Given the description of an element on the screen output the (x, y) to click on. 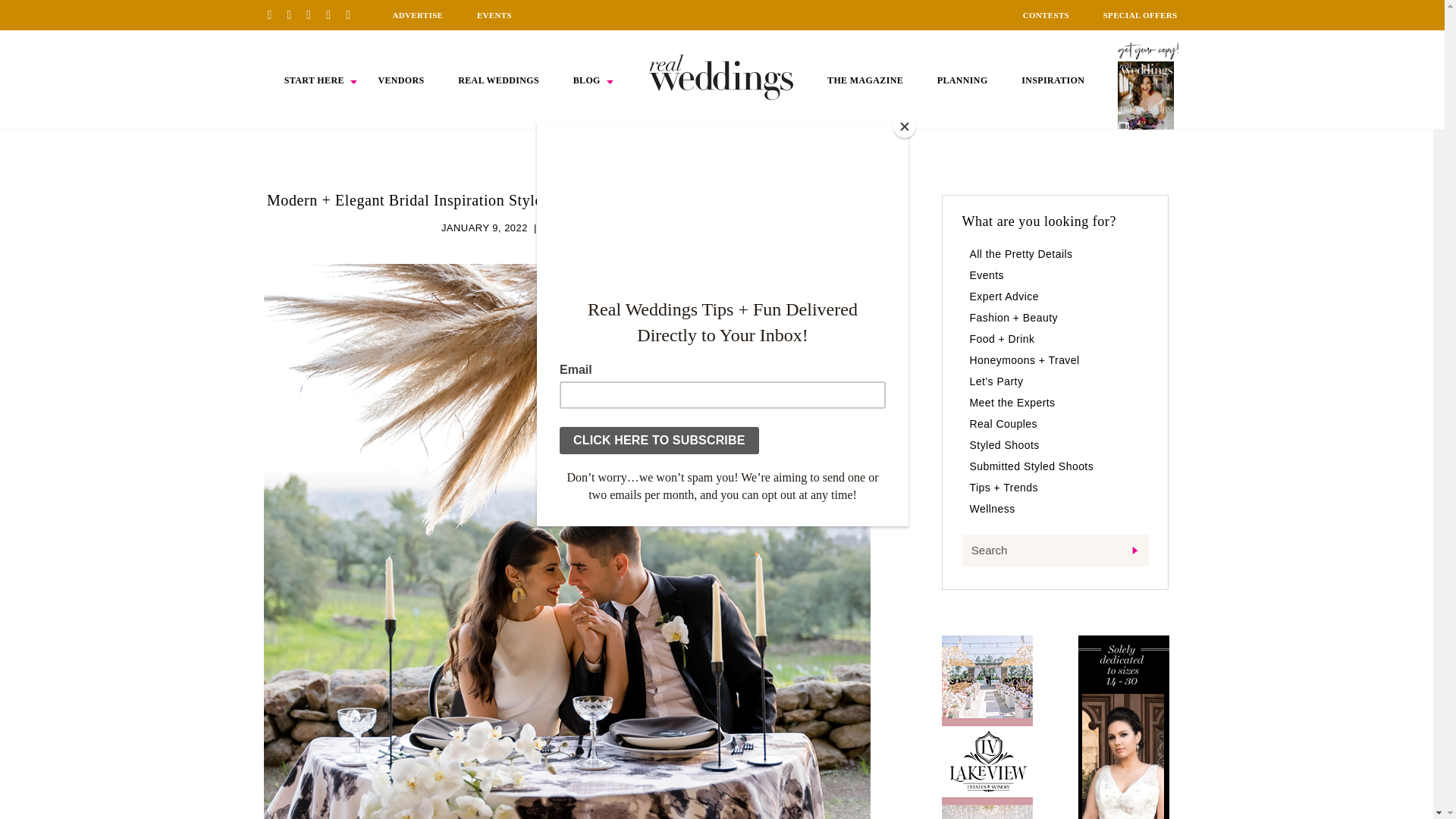
VENDORS (400, 80)
SPECIAL OFFERS (1140, 14)
Facebook (294, 14)
INSPIRATION (1053, 80)
REAL WEDDINGS (498, 80)
Search (1054, 550)
SUBMITTED STYLED SHOOTS (618, 227)
Twitter (334, 14)
YouTube (353, 14)
EVENTS (494, 14)
PLANNING (962, 80)
ADVERTISE (416, 14)
HOME (721, 76)
Instagram (313, 14)
CONTESTS (1045, 14)
